Given the description of an element on the screen output the (x, y) to click on. 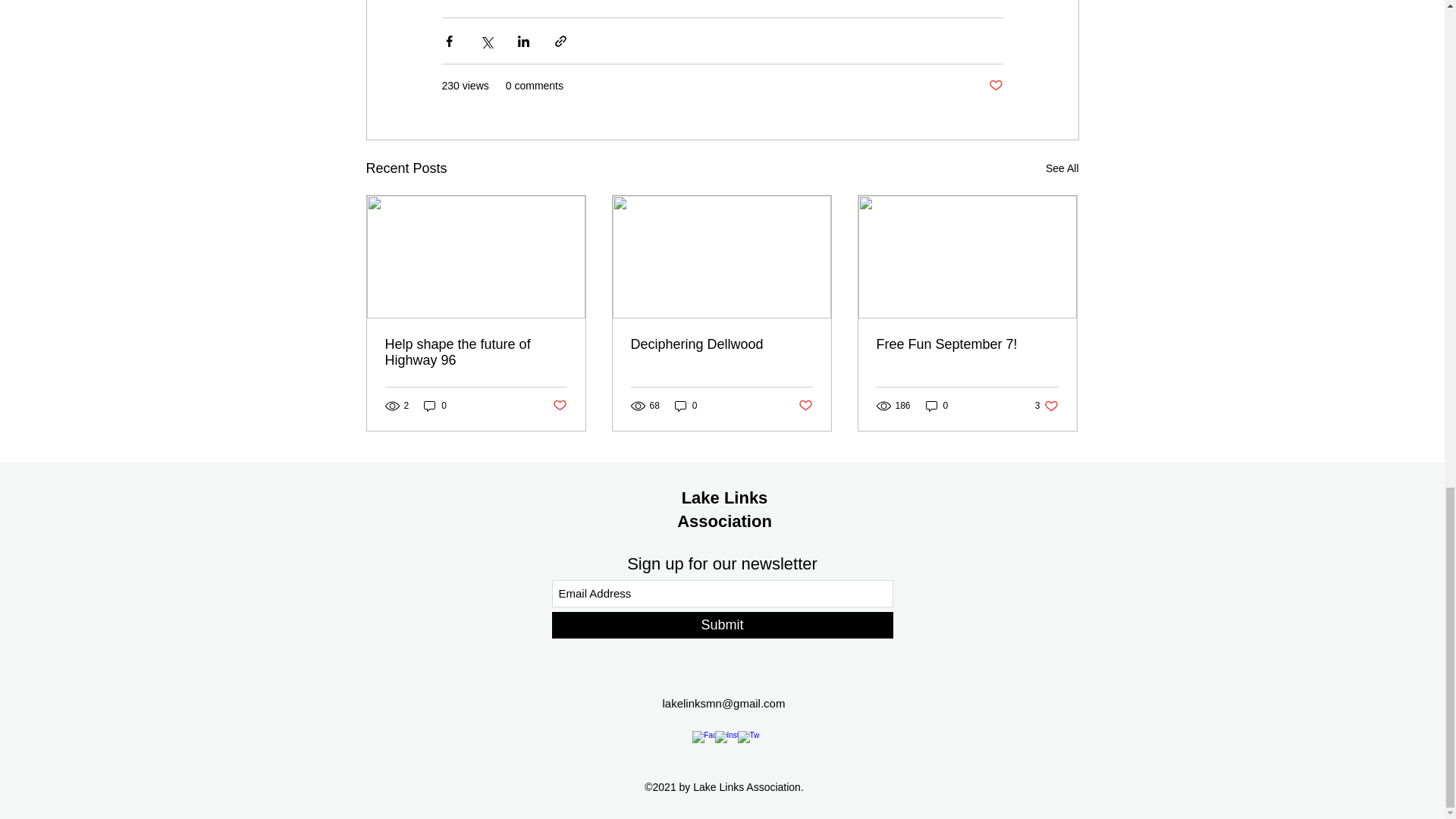
Post not marked as liked (558, 406)
Help shape the future of Highway 96 (476, 352)
See All (1061, 168)
0 (435, 405)
Post not marked as liked (995, 85)
